Given the description of an element on the screen output the (x, y) to click on. 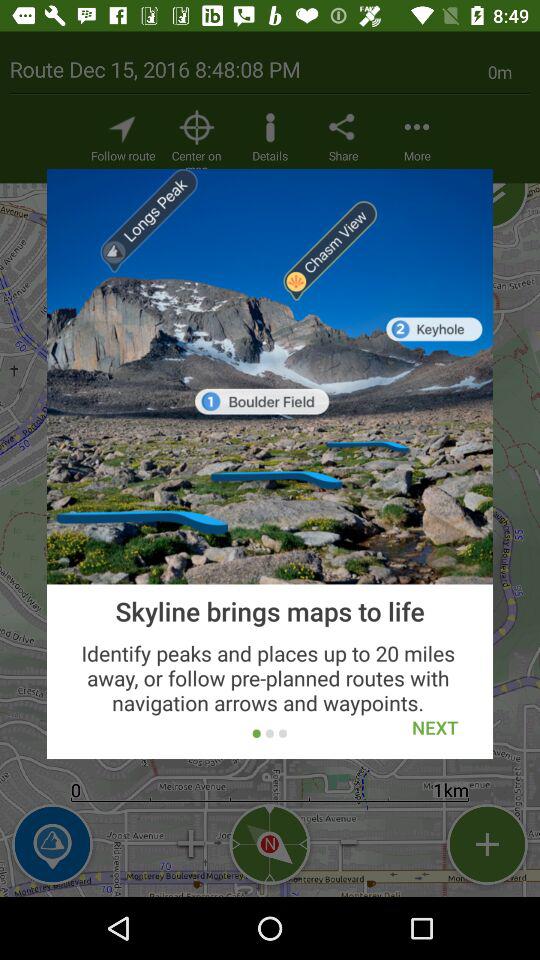
choose item at the bottom right corner (435, 727)
